Given the description of an element on the screen output the (x, y) to click on. 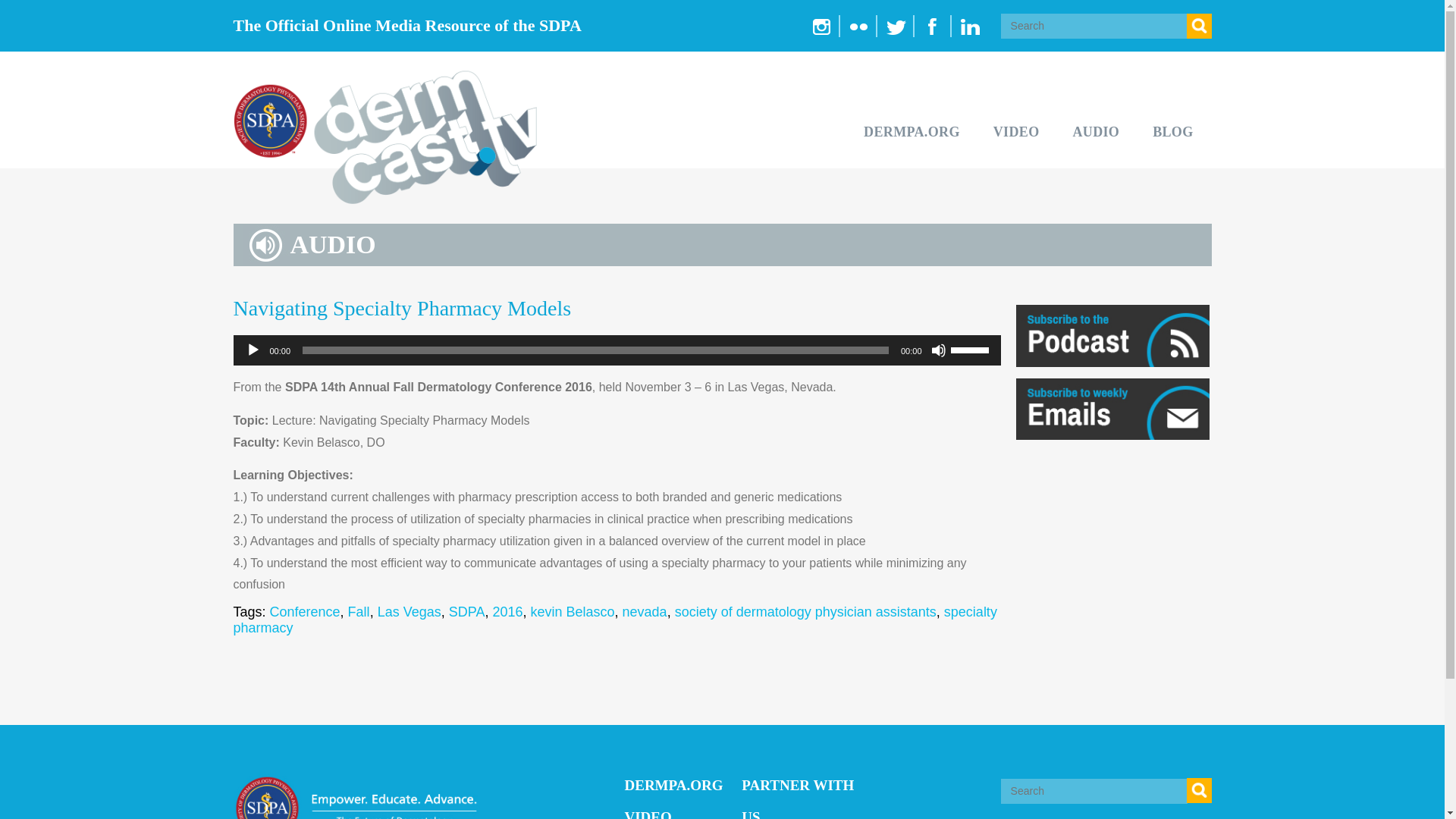
The Official Online Media Resource of the SDPA (477, 25)
Conference (304, 611)
Las Vegas (409, 611)
SDPA (466, 611)
BLOG (1172, 131)
DERMPA.ORG (911, 131)
AUDIO (1095, 131)
nevada (644, 611)
kevin Belasco (572, 611)
society of dermatology physician assistants (805, 611)
Fall (358, 611)
Play (253, 350)
